Given the description of an element on the screen output the (x, y) to click on. 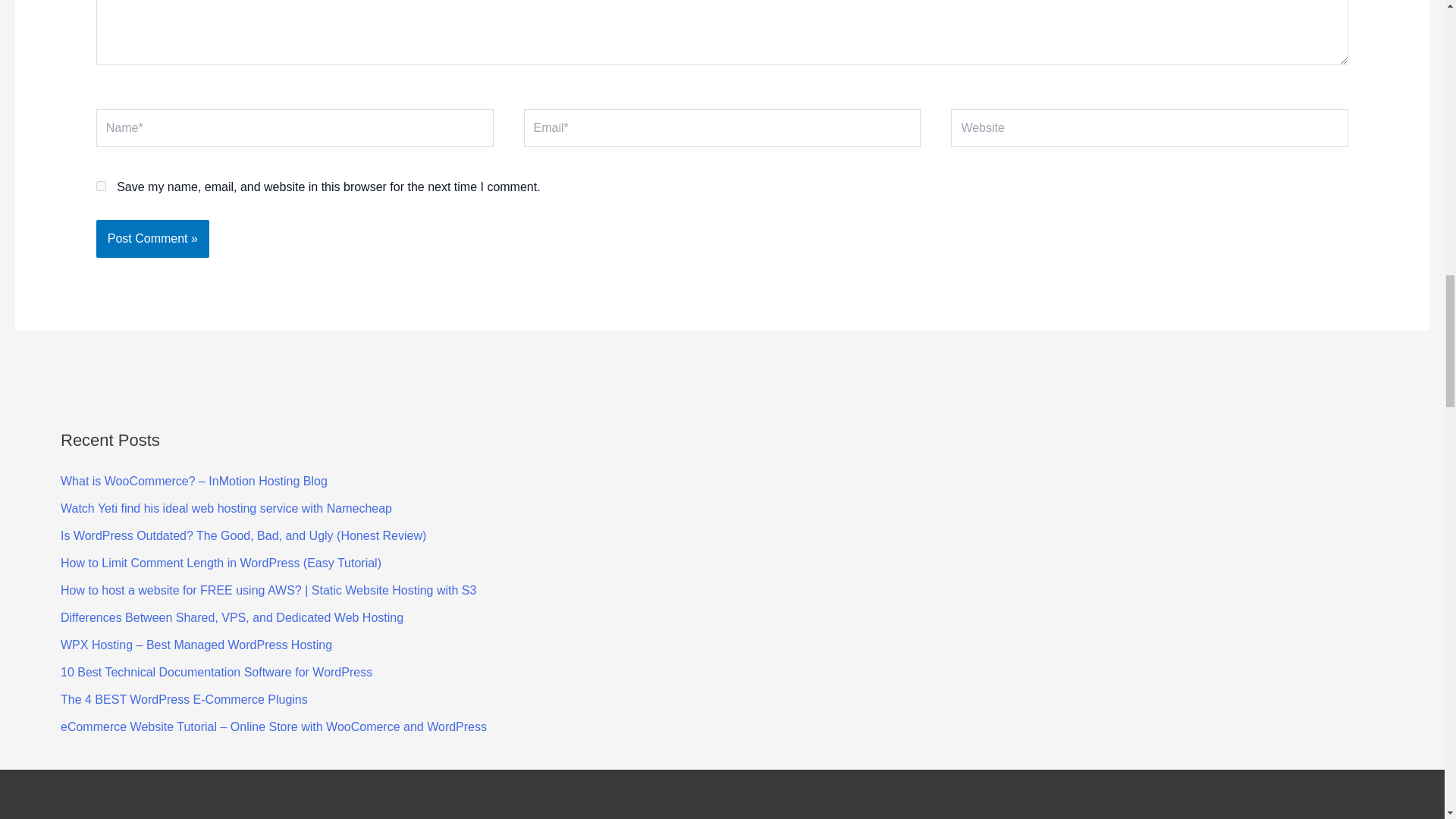
Watch Yeti find his ideal web hosting service with Namecheap (226, 508)
Differences Between Shared, VPS, and Dedicated Web Hosting (232, 617)
yes (101, 185)
The 4 BEST WordPress E-Commerce Plugins (184, 698)
10 Best Technical Documentation Software for WordPress (216, 671)
